Given the description of an element on the screen output the (x, y) to click on. 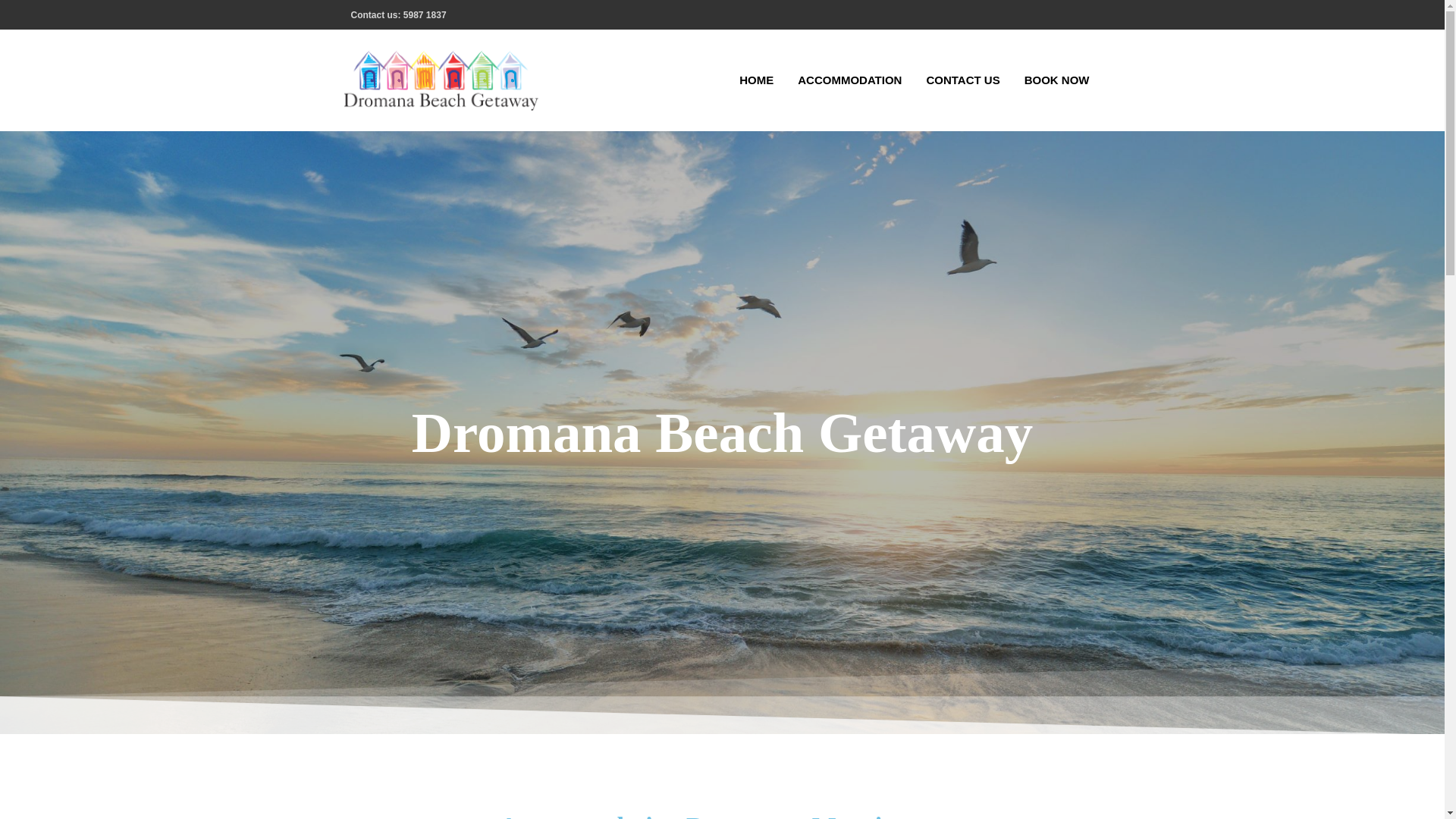
BOOK NOW Element type: text (1056, 80)
Contact us: 5987 1837 Element type: text (397, 14)
ACCOMMODATION Element type: text (849, 80)
HOME Element type: text (756, 80)
CONTACT US Element type: text (962, 80)
Dromana Beach Getaway Element type: text (630, 89)
